Given the description of an element on the screen output the (x, y) to click on. 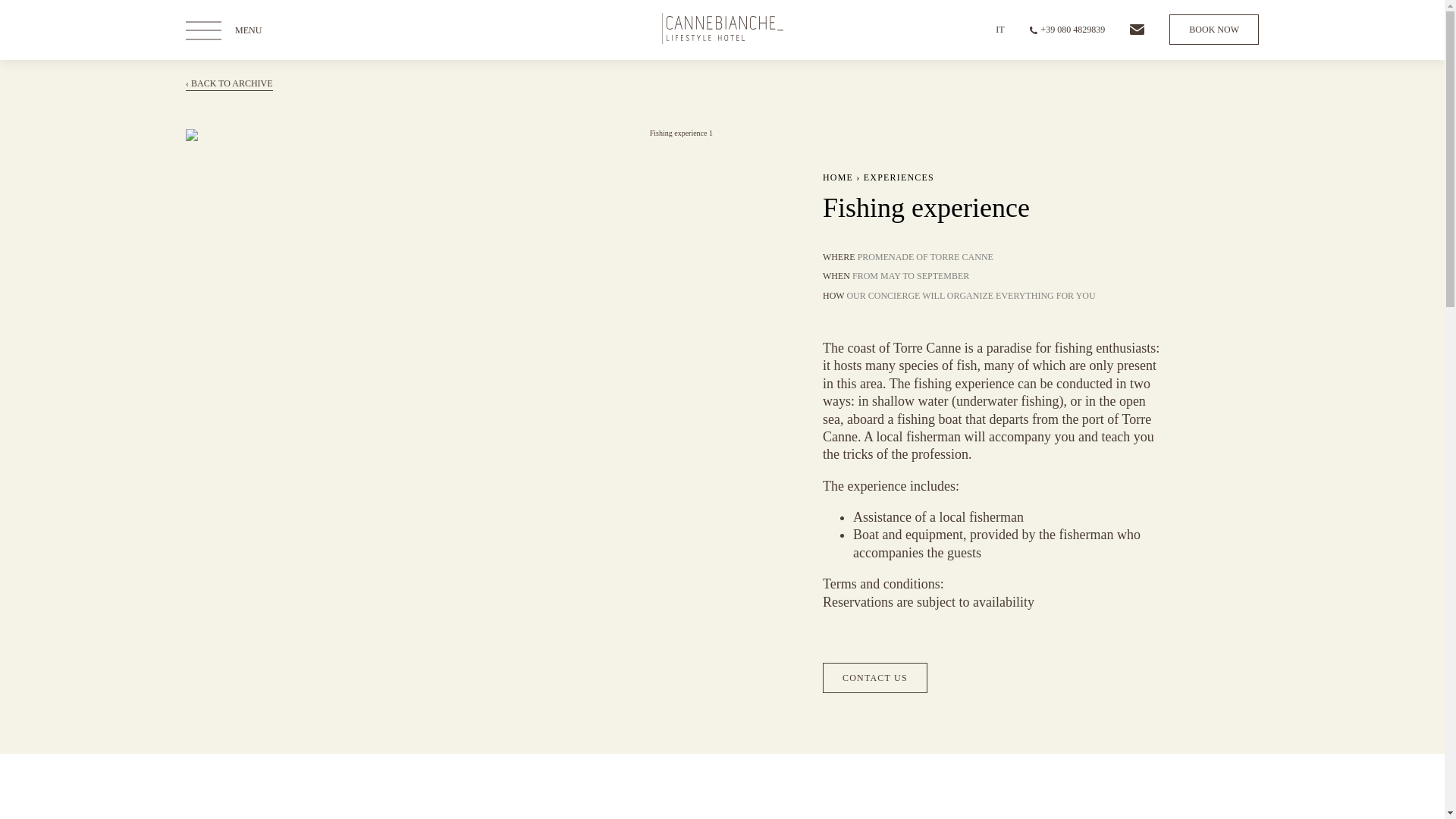
IT (999, 29)
Contattaci (1136, 29)
BOOK NOW (1214, 29)
Book now (1214, 29)
Canne Bianche (722, 40)
IT (999, 29)
